Given the description of an element on the screen output the (x, y) to click on. 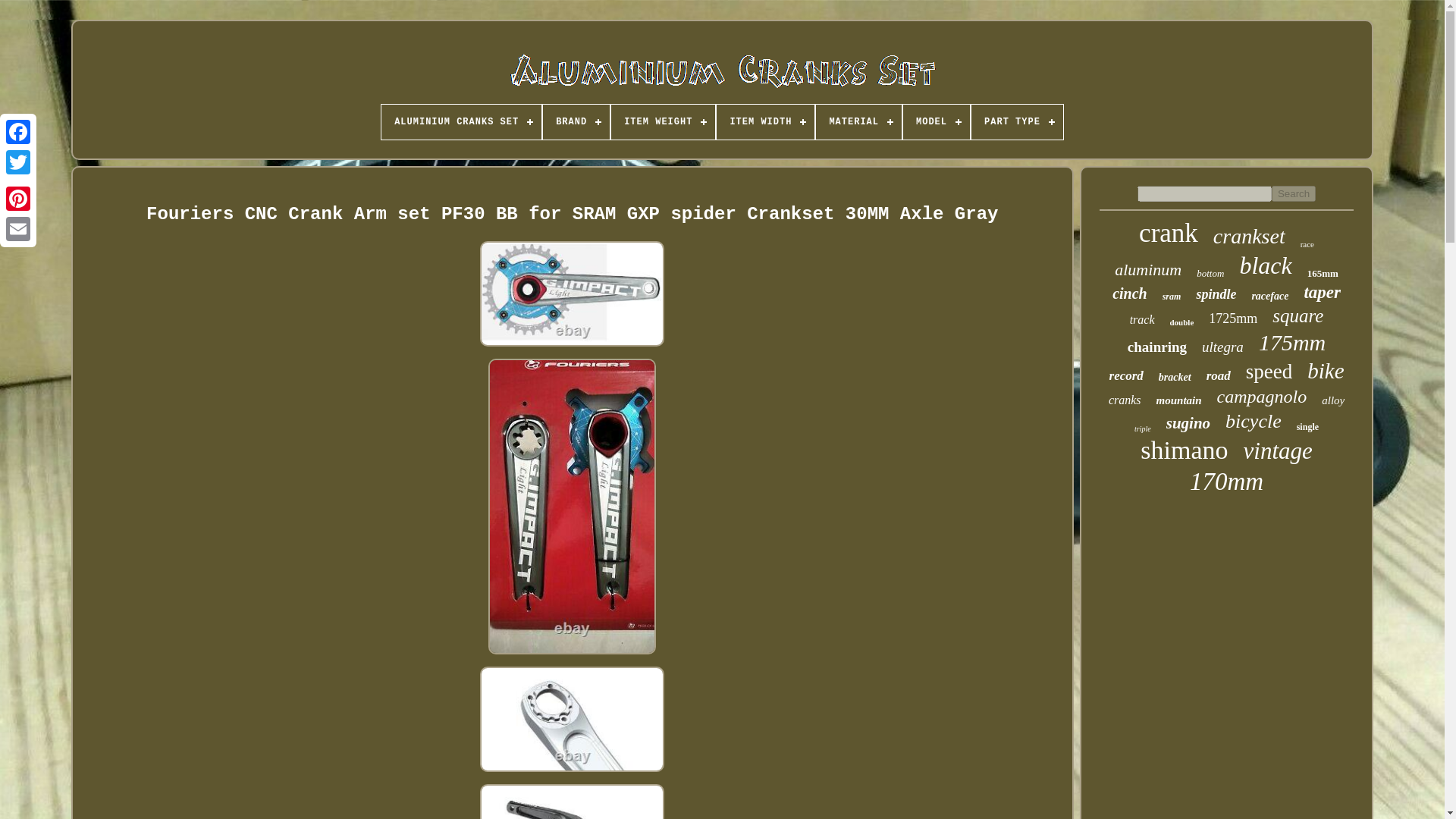
ITEM WEIGHT (662, 121)
BRAND (576, 121)
ALUMINIUM CRANKS SET (461, 121)
Search (1293, 193)
